Given the description of an element on the screen output the (x, y) to click on. 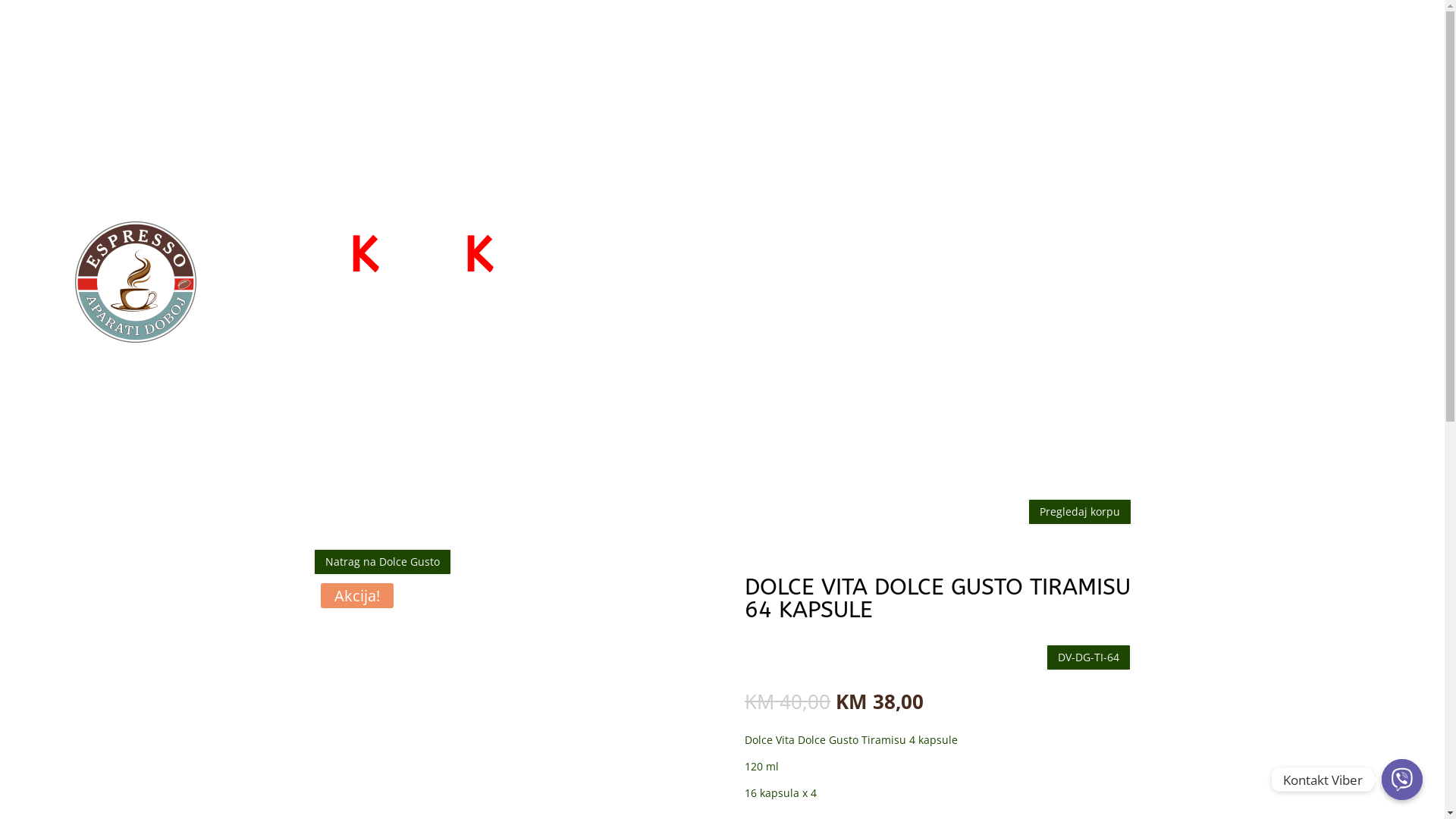
WEB PRODAVNICA Element type: text (964, 41)
Espresso aparati logo 160X160 Element type: hover (135, 281)
Natrag na Dolce Gusto Element type: text (381, 561)
KONTAKT Element type: text (1135, 41)
Pregledaj korpu Element type: text (1078, 511)
O NAMA Element type: text (1067, 41)
DV-DG-TI-64 Element type: text (1088, 657)
Kontakt Viber Element type: text (1401, 779)
